Given the description of an element on the screen output the (x, y) to click on. 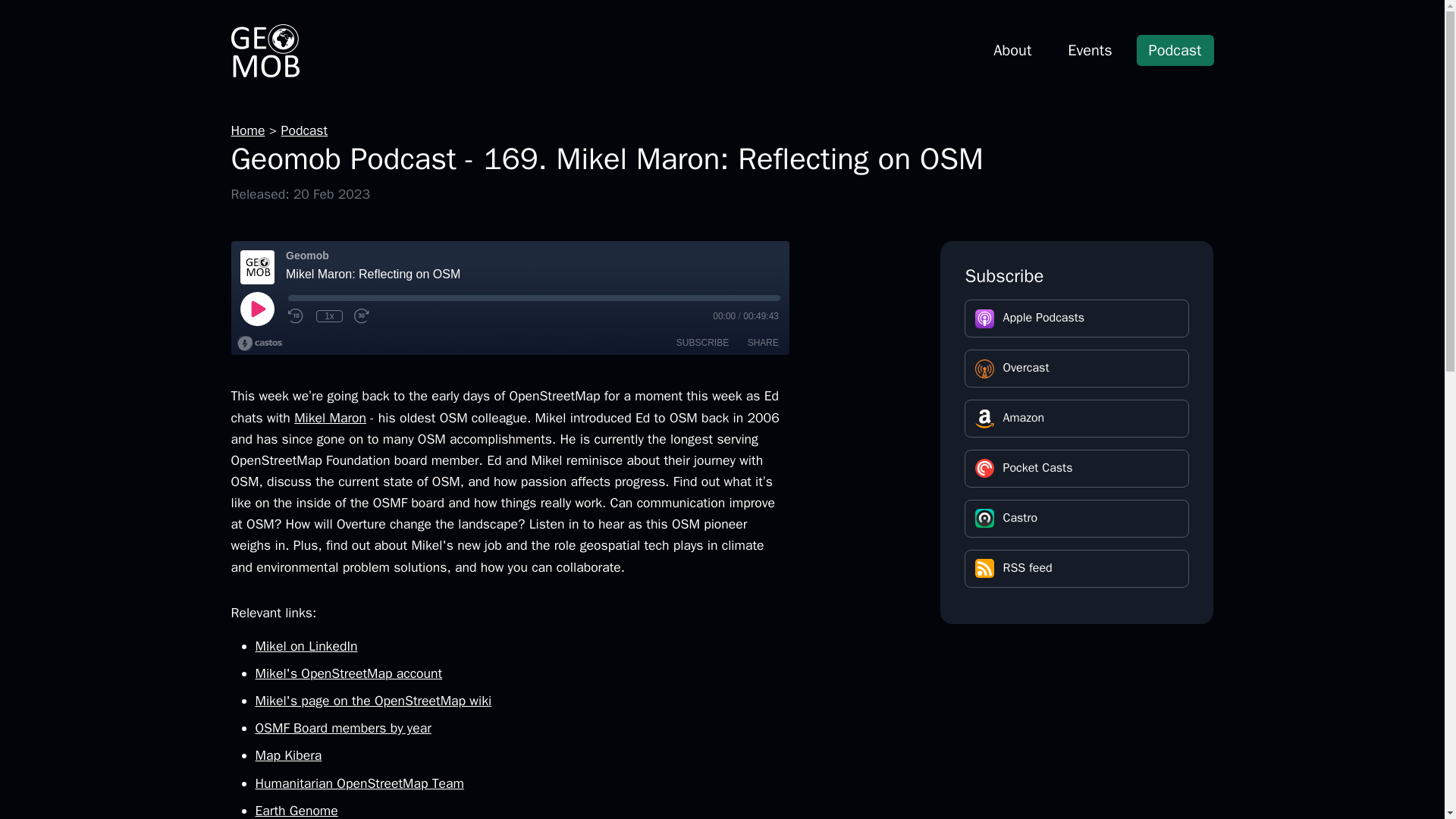
Pocket Casts (1076, 468)
Home (247, 130)
Apple Podcasts (1076, 318)
Events (1089, 50)
OSMF Board members by year (342, 727)
Mikel Maron (330, 417)
RSS feed (1076, 568)
Geomob (264, 50)
Map Kibera (287, 754)
Castro (1076, 518)
Mikel's page on the OpenStreetMap wiki (373, 700)
Humanitarian OpenStreetMap Team (358, 782)
Podcast (1175, 50)
Podcast (305, 130)
Mikel's OpenStreetMap account (348, 673)
